Given the description of an element on the screen output the (x, y) to click on. 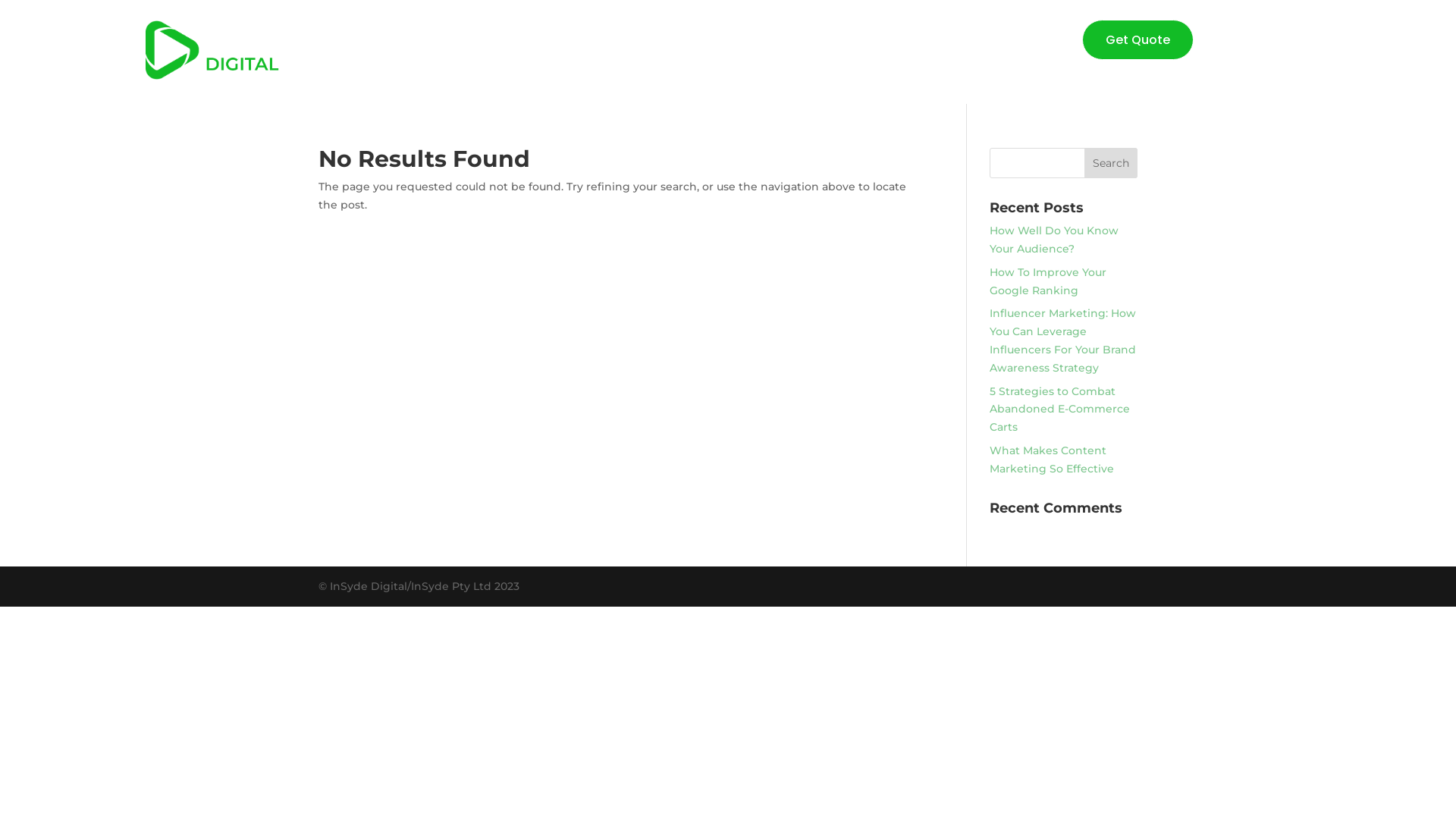
Search Element type: text (1110, 162)
How Well Do You Know Your Audience? Element type: text (1053, 239)
How To Improve Your Google Ranking Element type: text (1047, 281)
5 Strategies to Combat Abandoned E-Commerce Carts Element type: text (1059, 409)
Home Element type: text (664, 42)
InsydeDigitalInverse Element type: hover (248, 49)
Get Quote Element type: text (1137, 39)
Services Element type: text (732, 42)
Blog Element type: text (795, 42)
What Makes Content Marketing So Effective Element type: text (1051, 459)
